Given the description of an element on the screen output the (x, y) to click on. 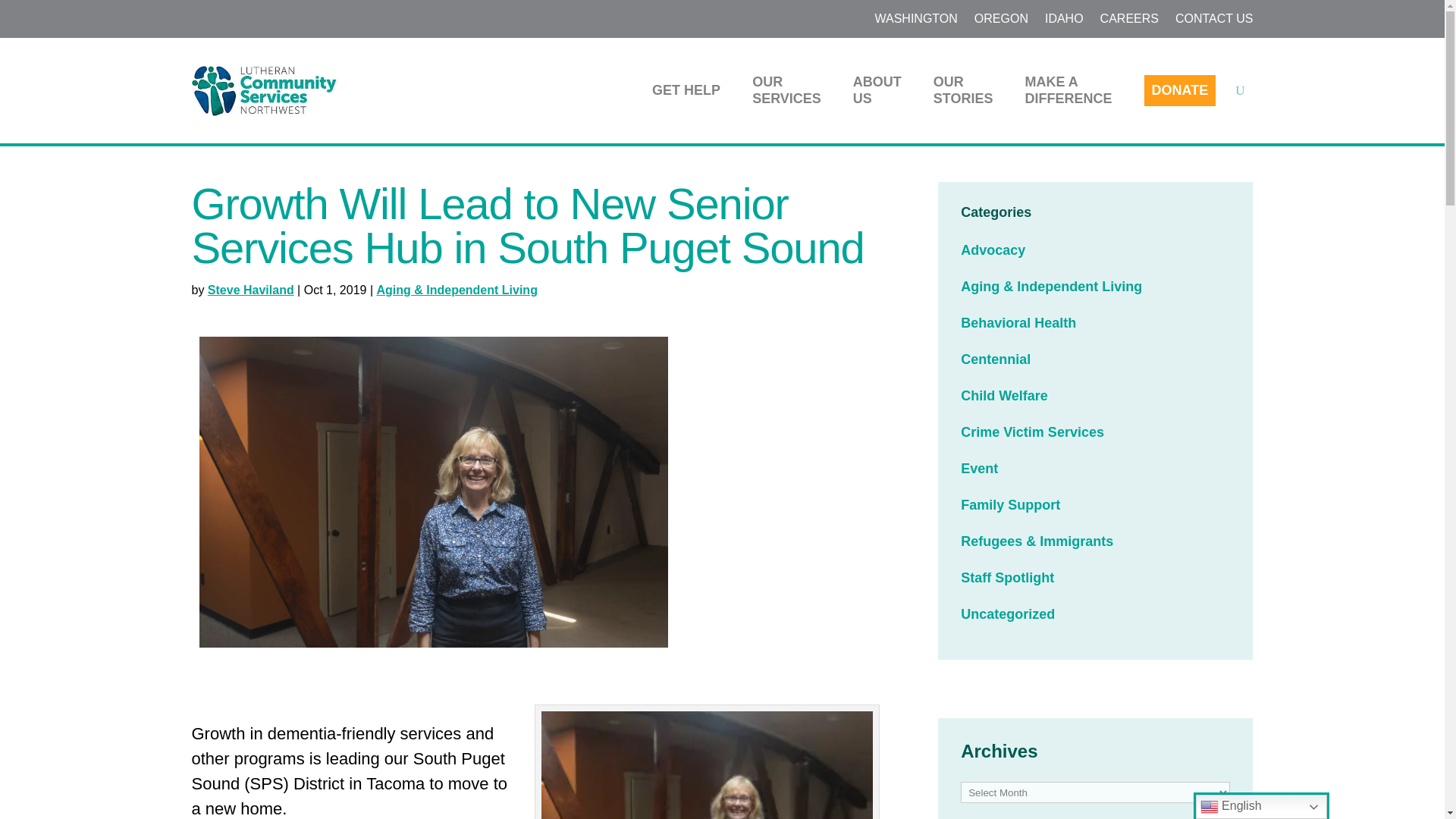
IDAHO (1064, 21)
CONTACT US (1213, 21)
WASHINGTON (915, 21)
GET HELP (693, 90)
Posts by Steve Haviland (251, 289)
CAREERS (1129, 21)
OREGON (793, 90)
